Given the description of an element on the screen output the (x, y) to click on. 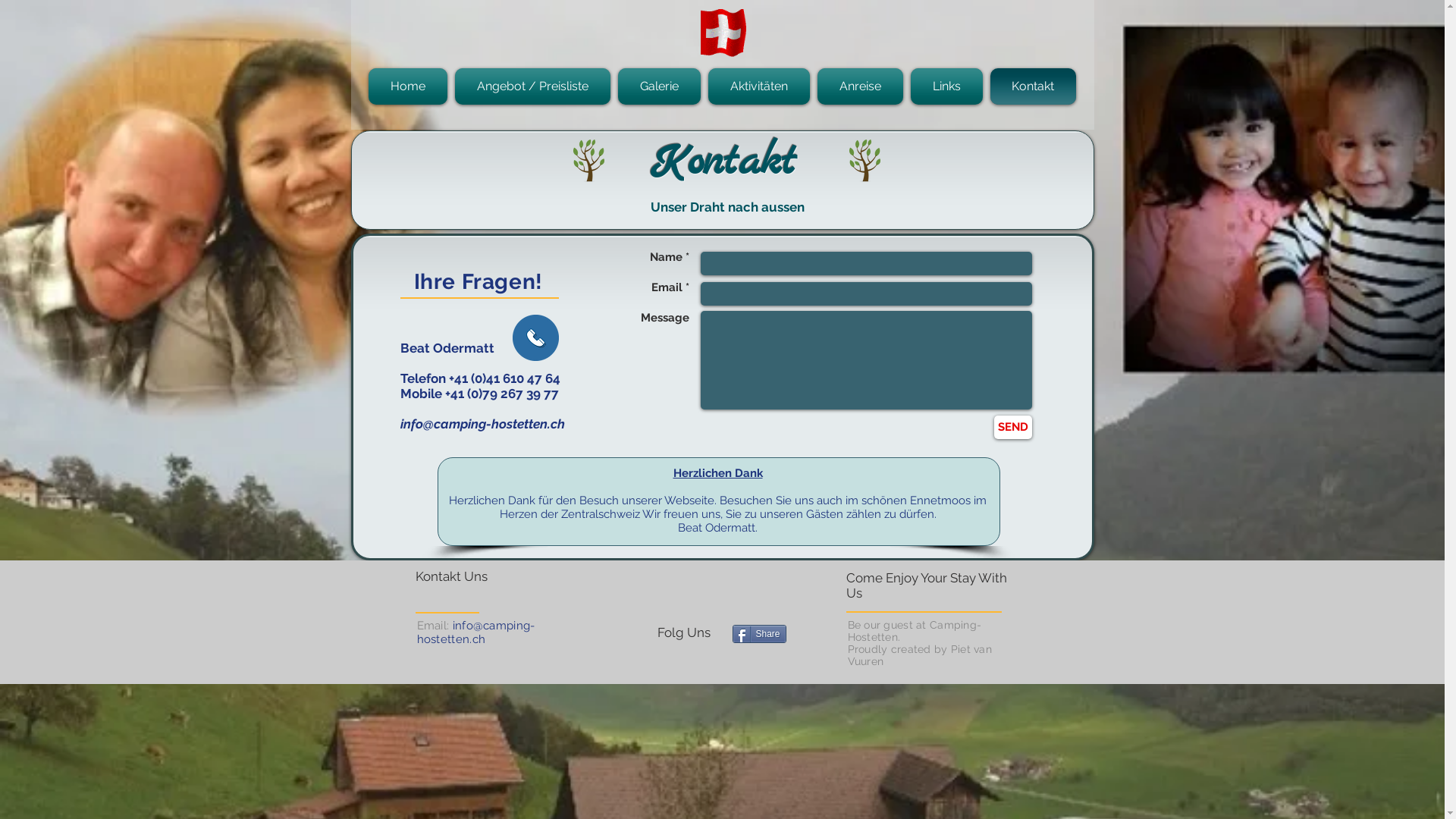
info@camping-hostetten.ch Element type: text (482, 423)
Kontakt Element type: text (1030, 86)
ch-flag1.gif Element type: hover (721, 32)
info@camping-hostetten Element type: text (476, 632)
Call Us Element type: hover (535, 337)
SEND Element type: text (1012, 427)
Angebot / Preisliste Element type: text (531, 86)
Share Element type: text (759, 633)
Anreise Element type: text (859, 86)
Links Element type: text (946, 86)
Kontakt Uns Element type: text (464, 576)
Home Element type: text (409, 86)
Galerie Element type: text (659, 86)
